Given the description of an element on the screen output the (x, y) to click on. 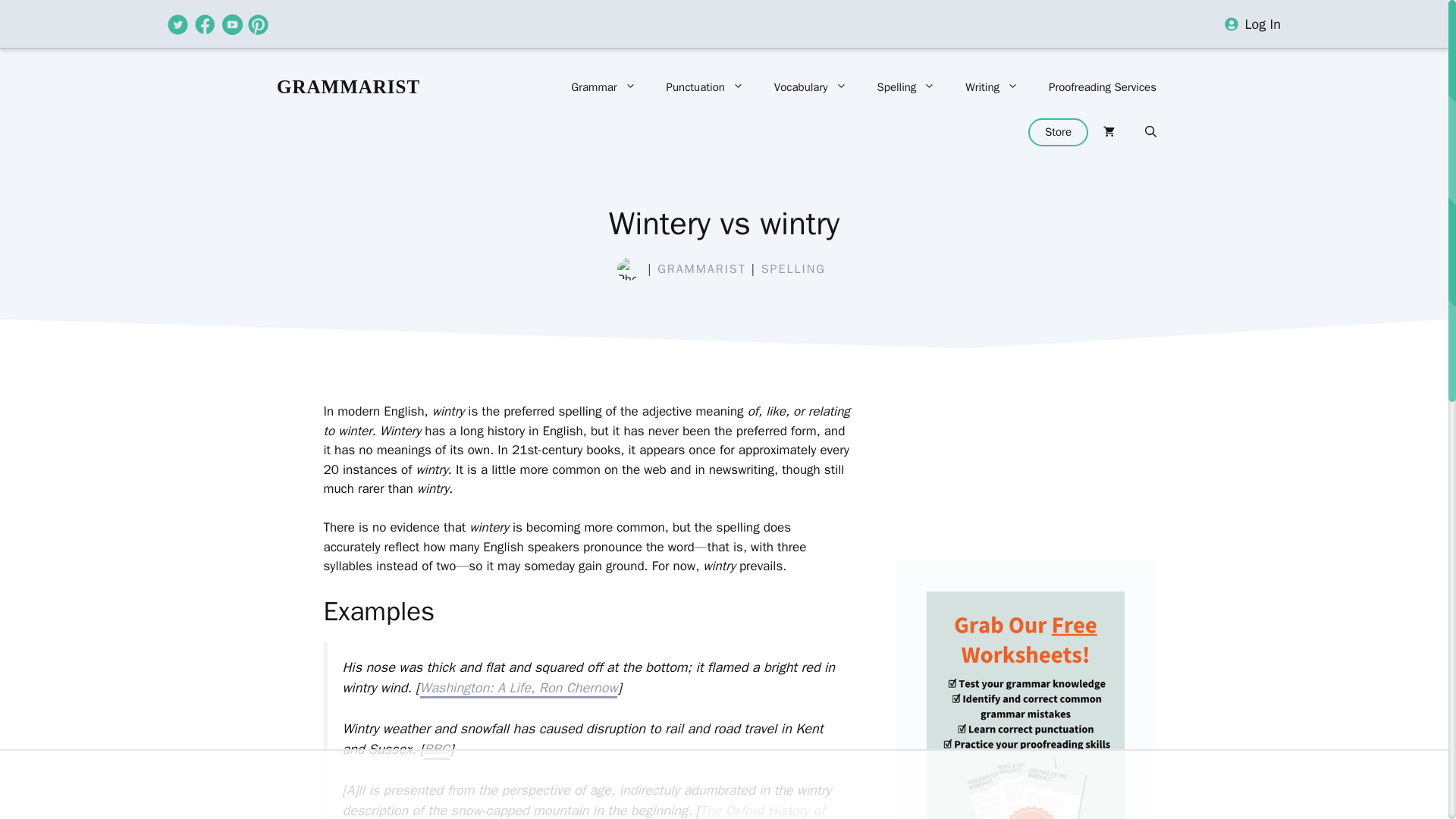
Log In (1262, 23)
Punctuation (704, 86)
GRAMMARIST (348, 86)
View your shopping cart (1108, 132)
Grammar (603, 86)
Vocabulary (809, 86)
